Given the description of an element on the screen output the (x, y) to click on. 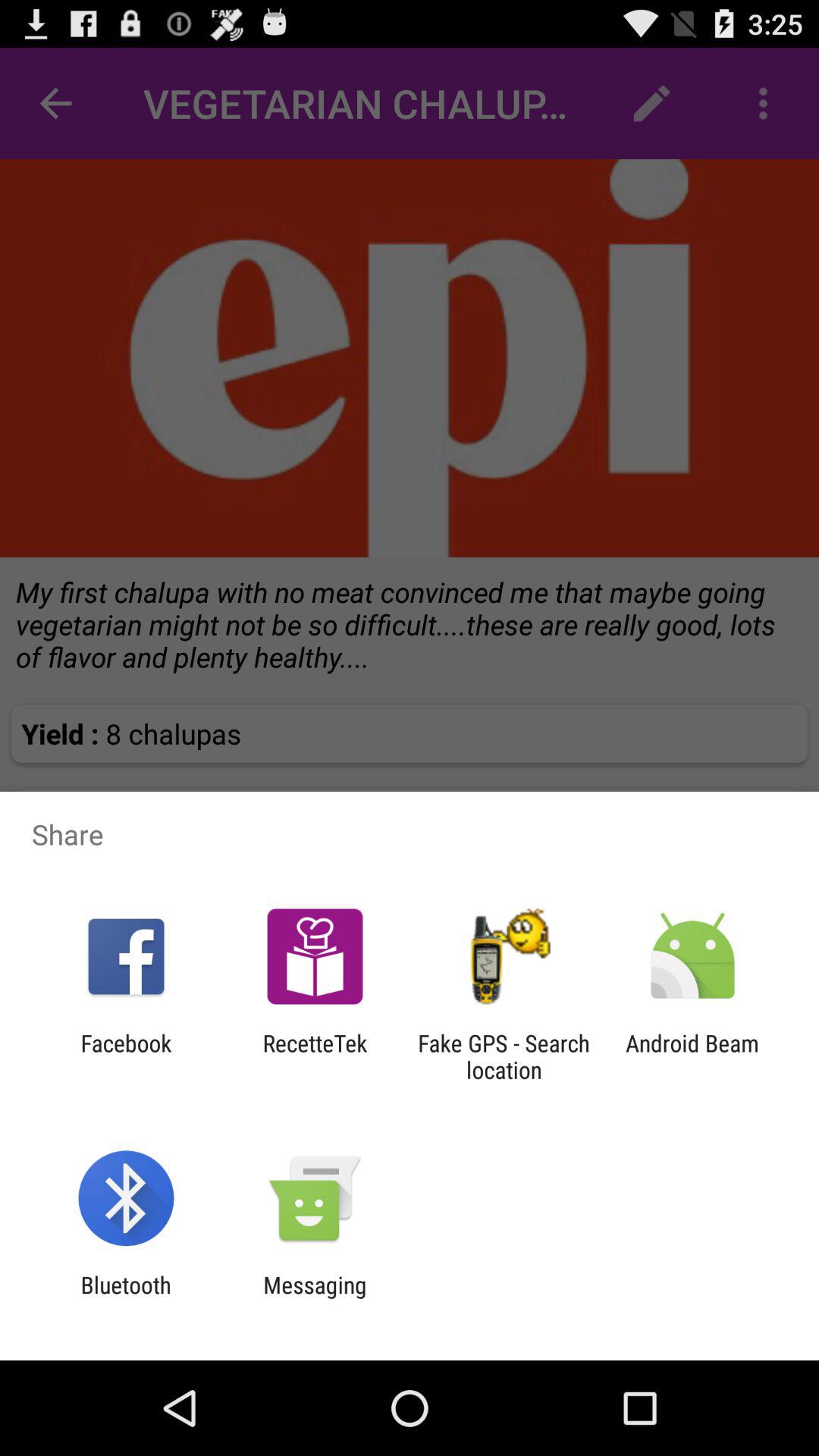
launch the icon next to fake gps search icon (692, 1056)
